Given the description of an element on the screen output the (x, y) to click on. 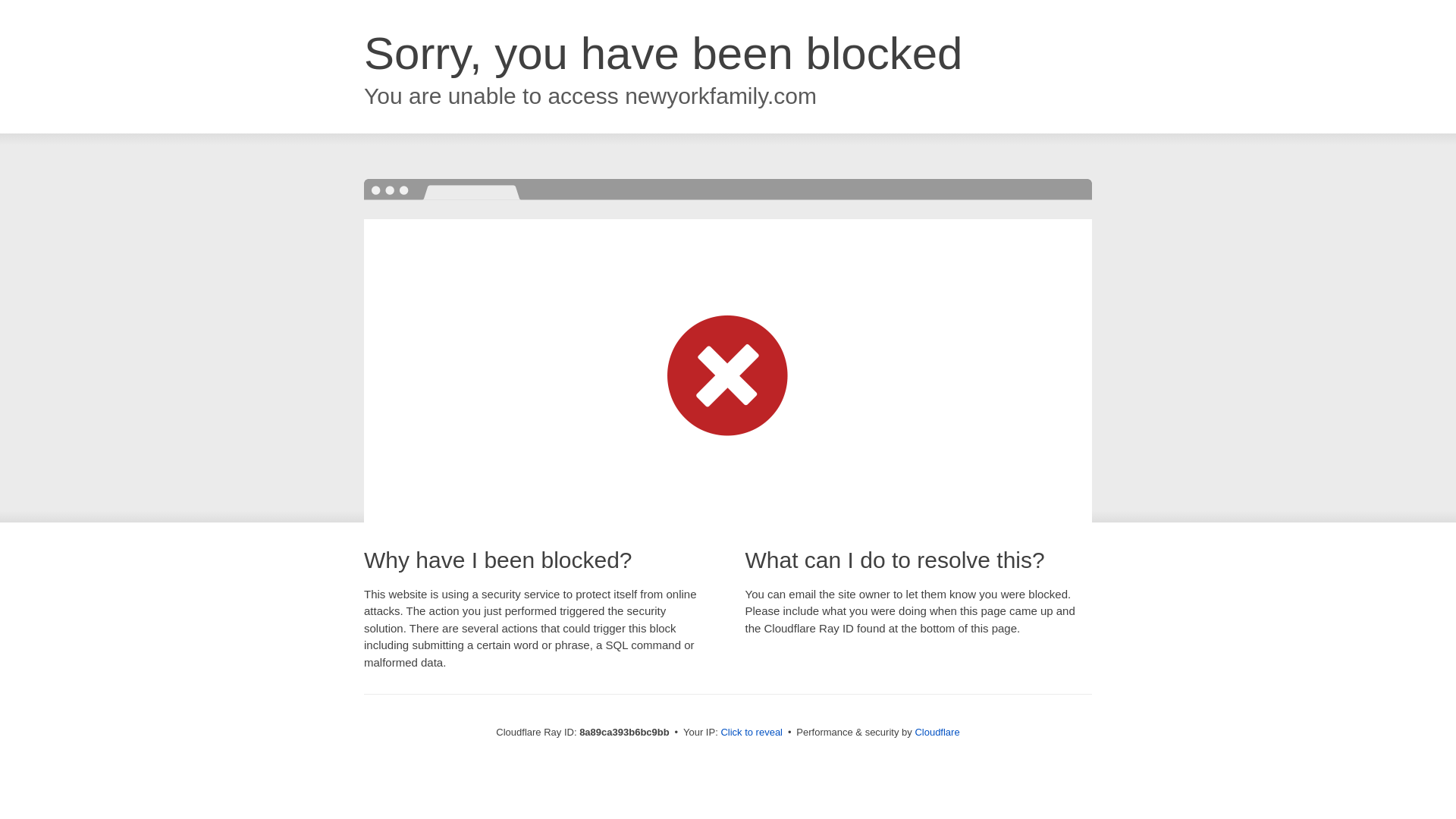
Cloudflare (936, 731)
Click to reveal (751, 732)
